Given the description of an element on the screen output the (x, y) to click on. 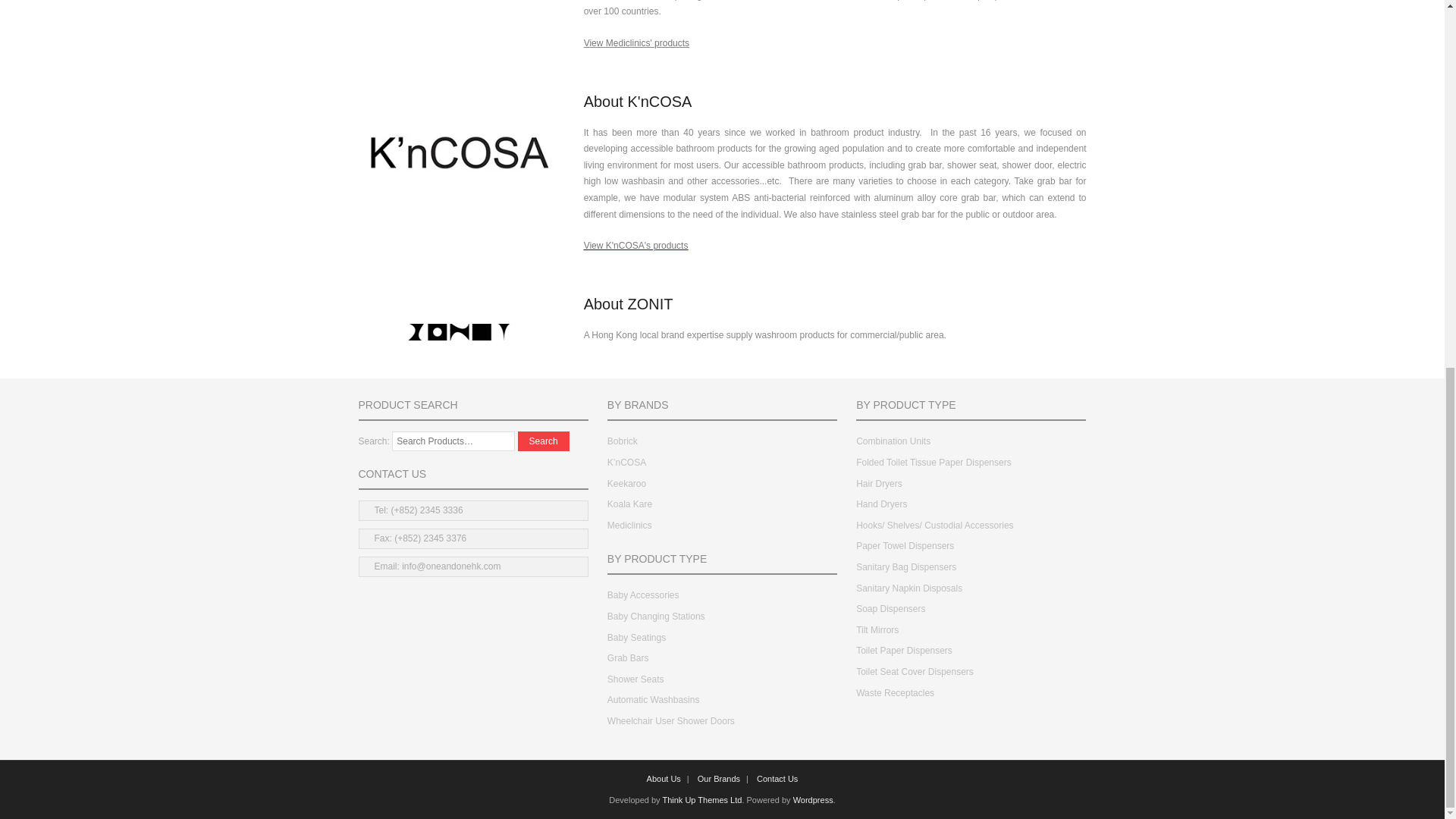
Hand Dryers (881, 505)
Search (543, 441)
Soap Dispensers (890, 609)
Search (543, 441)
Paper Towel Dispensers (904, 546)
Grab Bars (628, 659)
Baby Accessories (643, 596)
Hair Dryers (879, 484)
View Mediclinics' products (635, 42)
Tilt Mirrors (877, 630)
